Given the description of an element on the screen output the (x, y) to click on. 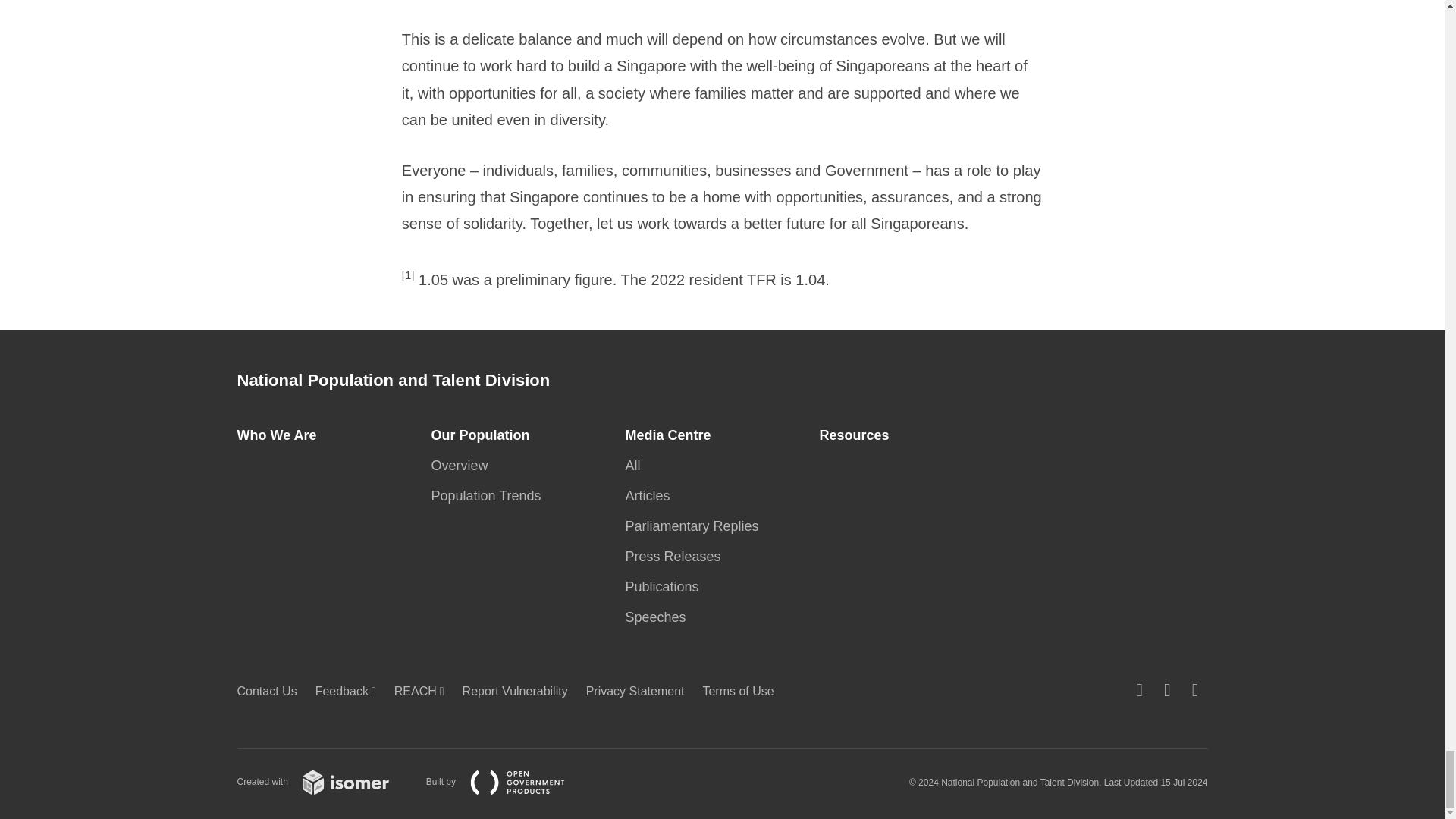
Publications (665, 586)
Parliamentary Replies (695, 525)
Our Population (484, 435)
Population Trends (490, 495)
Media Centre (671, 435)
Who We Are (279, 435)
Articles (651, 495)
Link to reach.gov.sg (423, 690)
Speeches (659, 616)
Overview (463, 465)
All (636, 465)
Press Releases (676, 556)
